Given the description of an element on the screen output the (x, y) to click on. 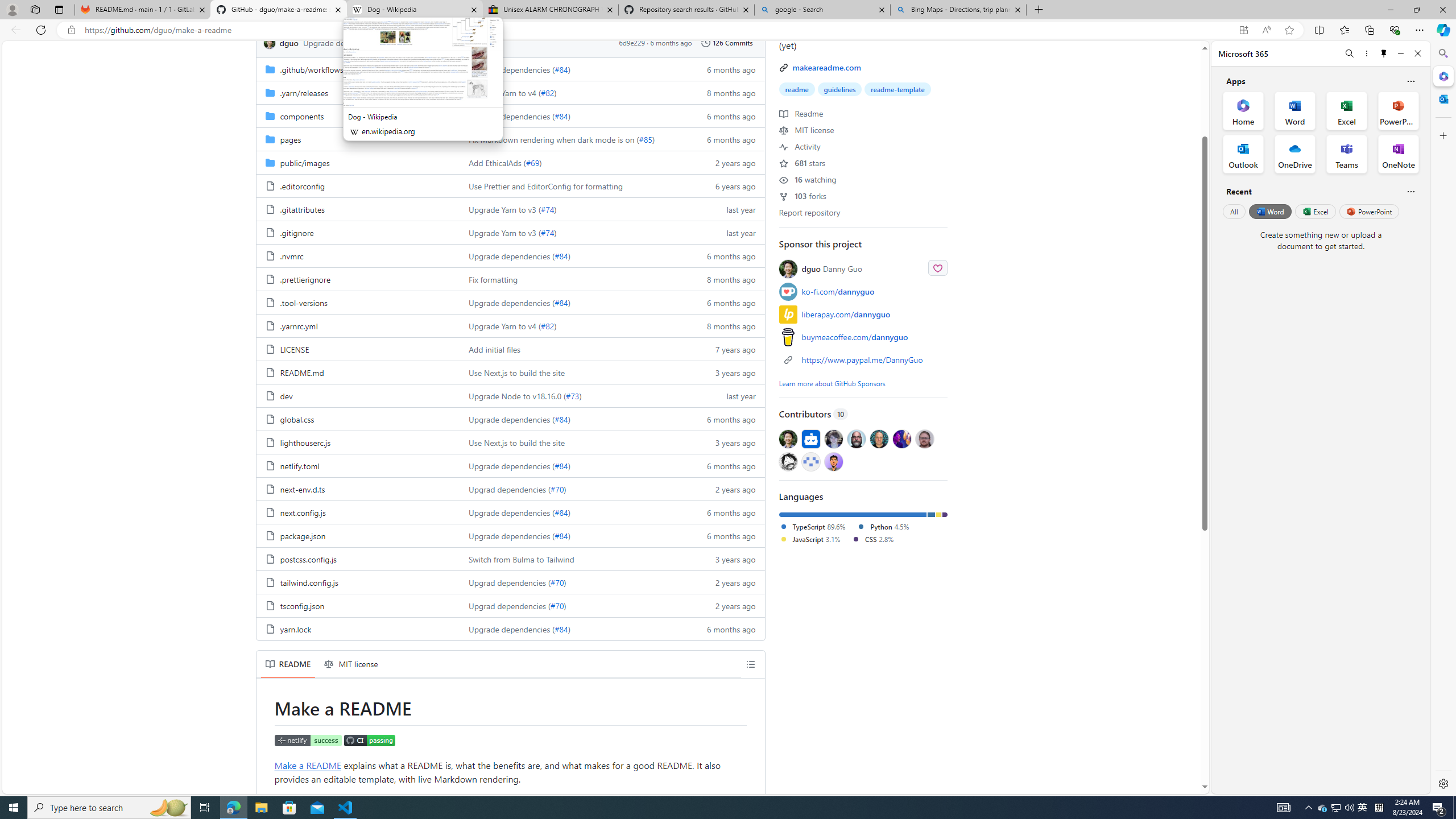
Fix formatting (573, 278)
global.css, (File) (296, 419)
#84 (560, 628)
liberapay.com/dannyguo (845, 314)
Microsoft 365 (1442, 76)
Close (1417, 53)
AutomationID: folder-row-18 (510, 488)
) (568, 628)
.yarn/releases, (Directory) (303, 92)
TypeScript 89.6% (811, 525)
buy_me_a_coffee (787, 336)
dguo (269, 43)
tailwind.config.js, (File) (358, 581)
CI status (368, 741)
Activity (799, 145)
